Given the description of an element on the screen output the (x, y) to click on. 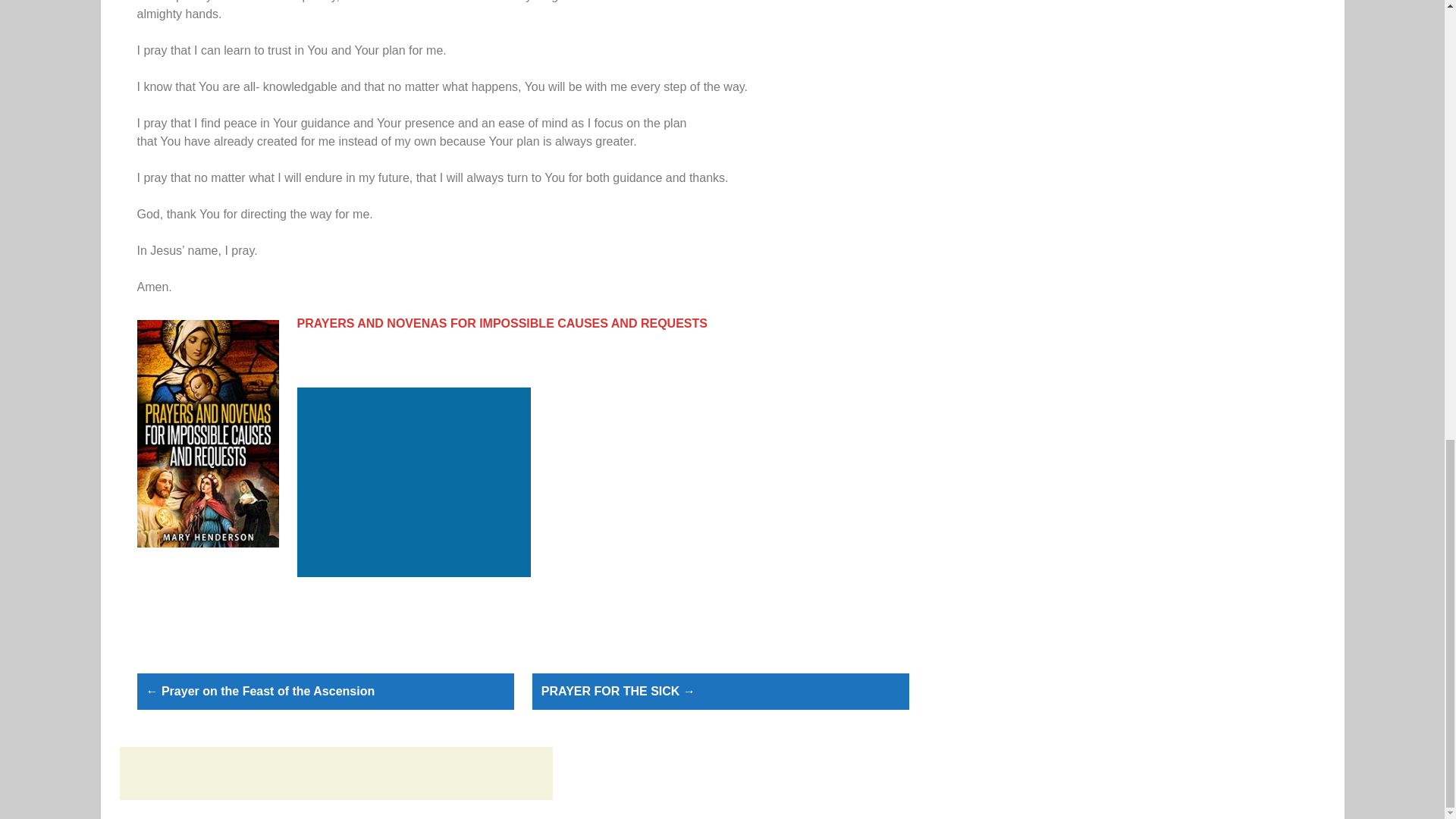
PRAYERS AND NOVENAS FOR IMPOSSIBLE CAUSES AND REQUESTS (502, 323)
